Given the description of an element on the screen output the (x, y) to click on. 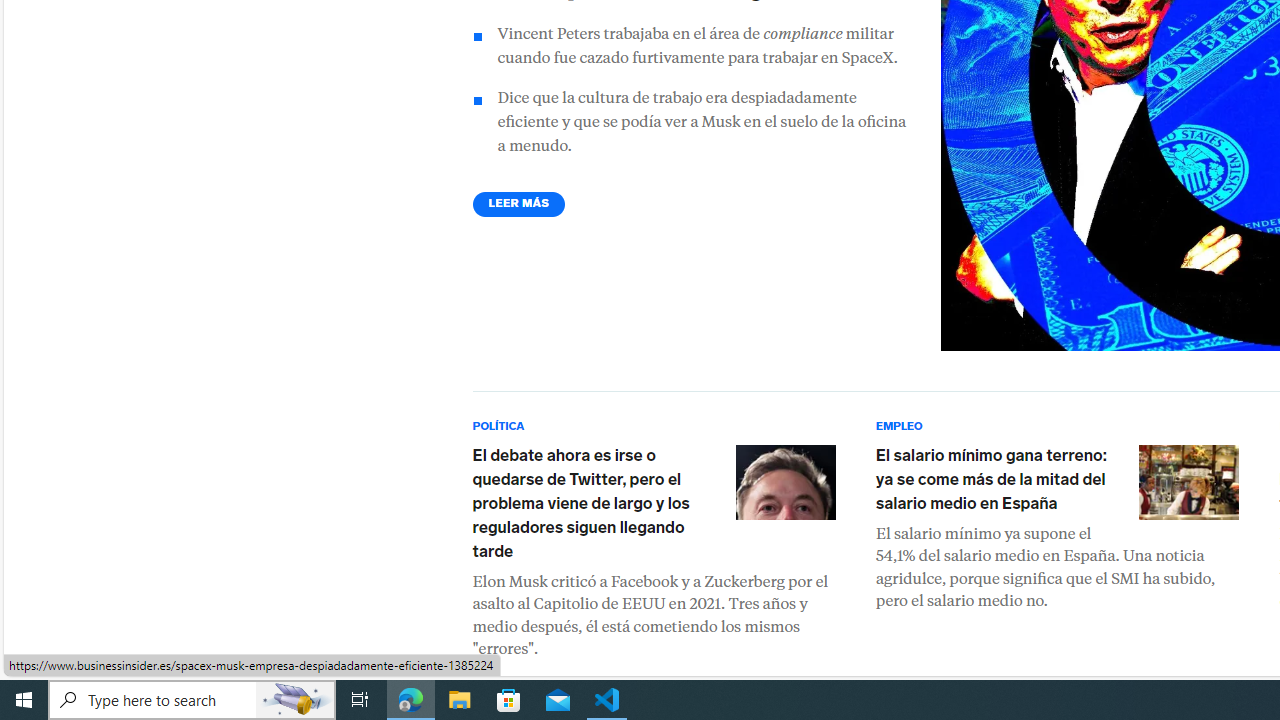
Elon Musk (784, 481)
